Given the description of an element on the screen output the (x, y) to click on. 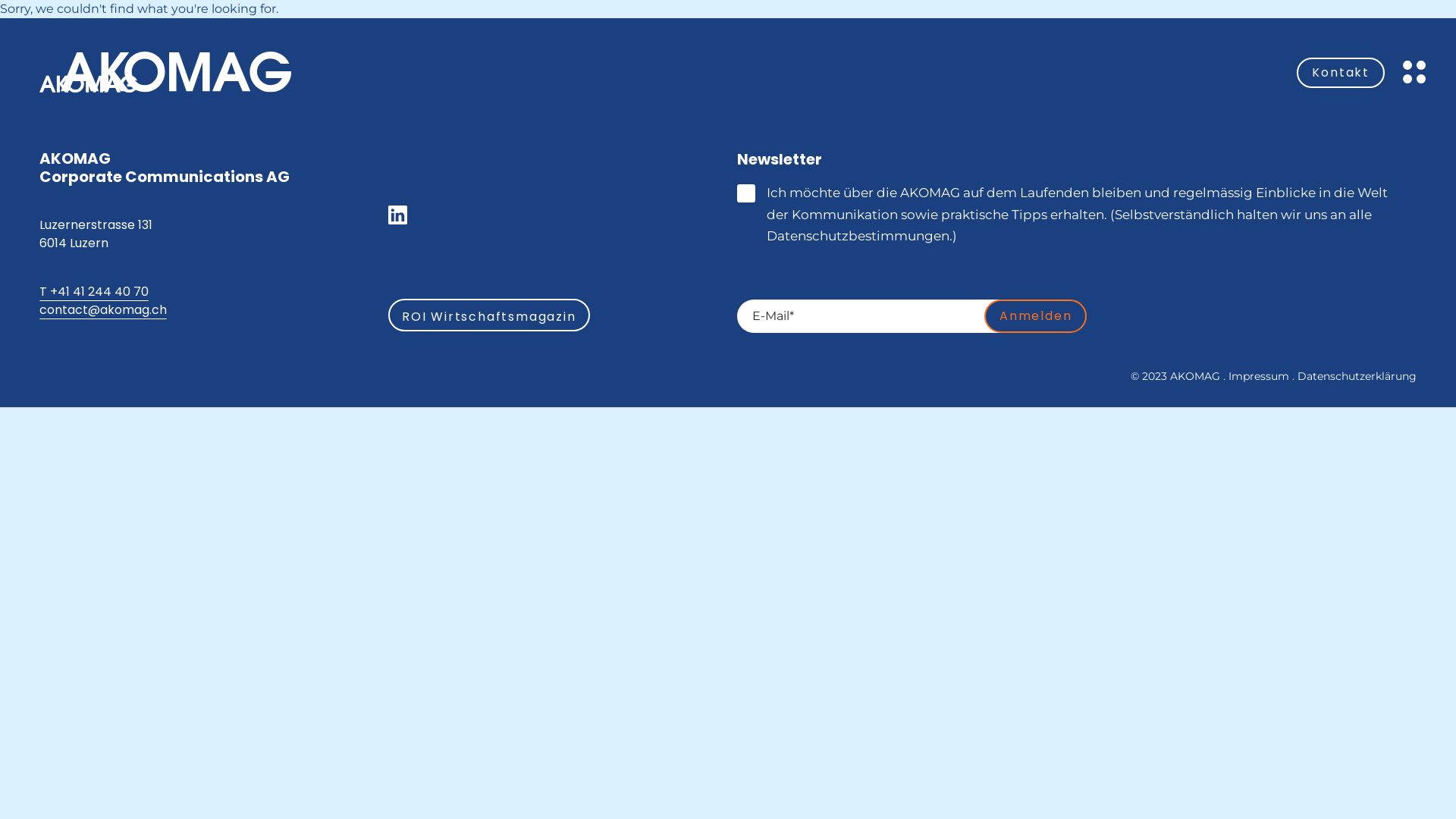
Anmelden Element type: text (1035, 315)
Kontakt Element type: text (1340, 72)
Impressum Element type: text (1258, 375)
T +41 41 244 40 70 Element type: text (93, 291)
contact@akomag.ch Element type: text (102, 310)
ROI Wirtschaftsmagazin Element type: text (488, 314)
